Given the description of an element on the screen output the (x, y) to click on. 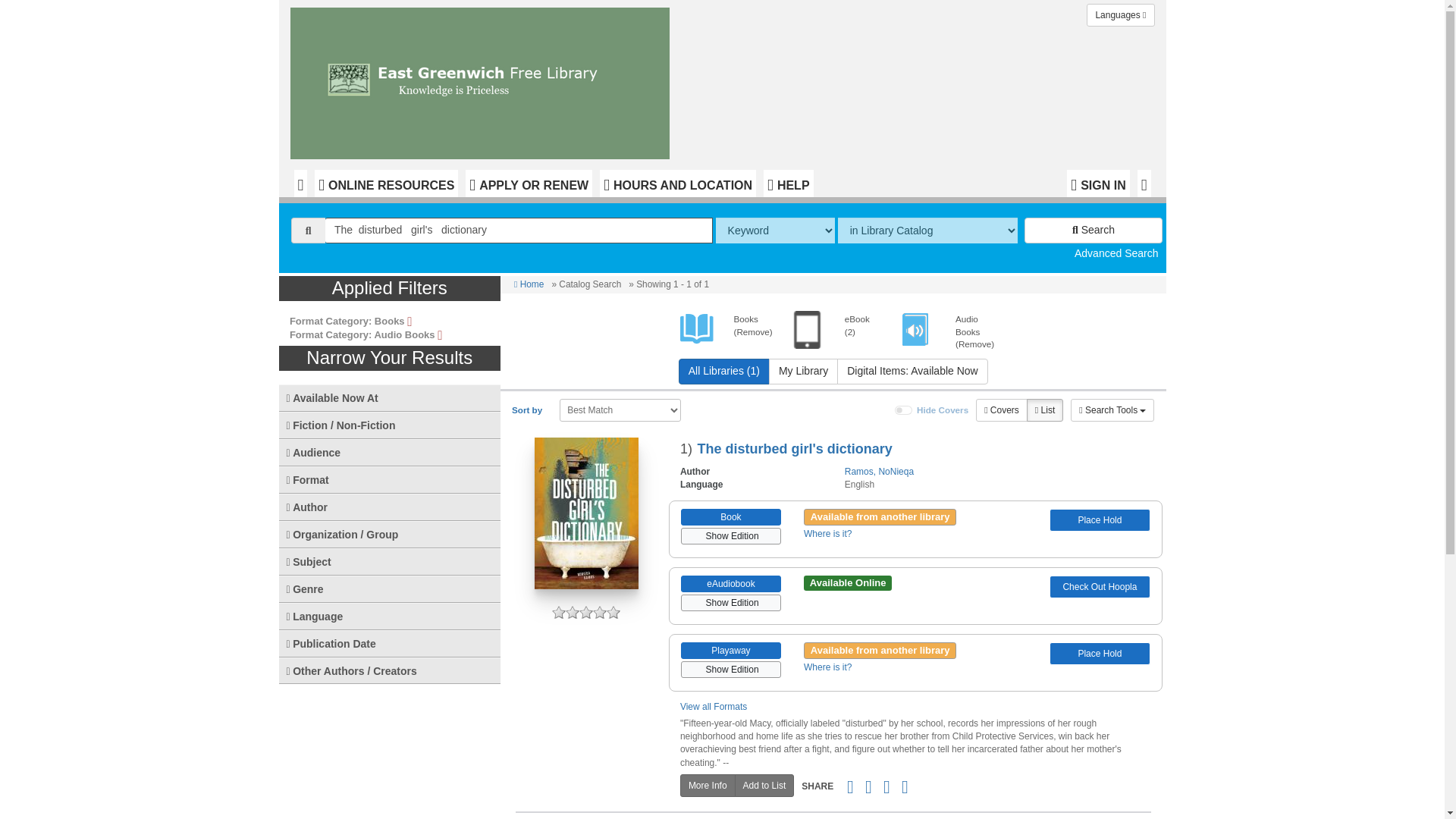
on (903, 409)
Advanced Search (1116, 253)
 Search (1093, 230)
HOURS AND LOCATION (677, 183)
Library Home Page (483, 79)
Languages  (1120, 15)
HELP (787, 183)
ONLINE RESOURCES (386, 183)
Login (1098, 183)
SIGN IN (1098, 183)
